Given the description of an element on the screen output the (x, y) to click on. 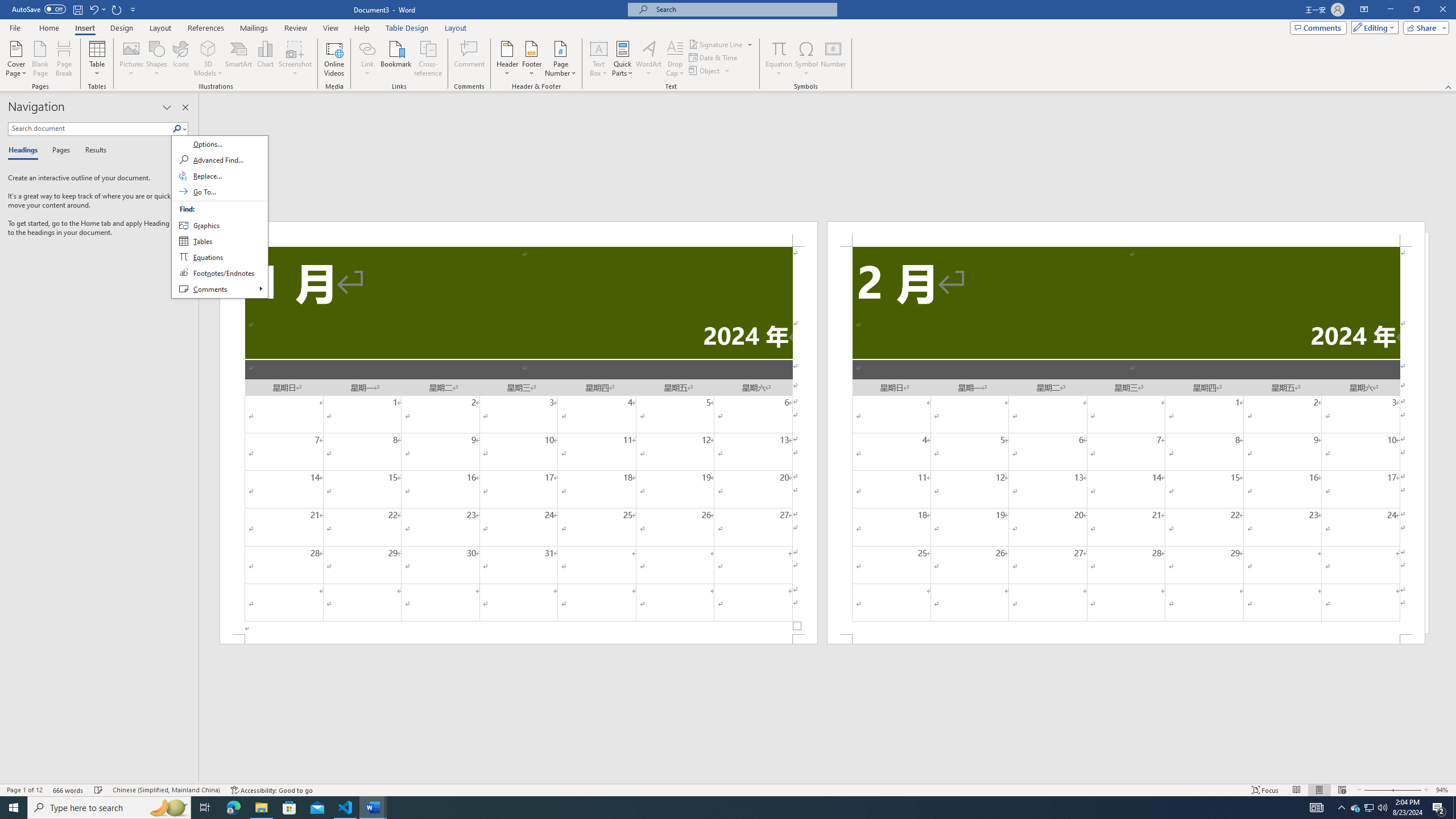
Equation (778, 58)
Shapes (156, 58)
Footer -Section 2- (1126, 638)
